Given the description of an element on the screen output the (x, y) to click on. 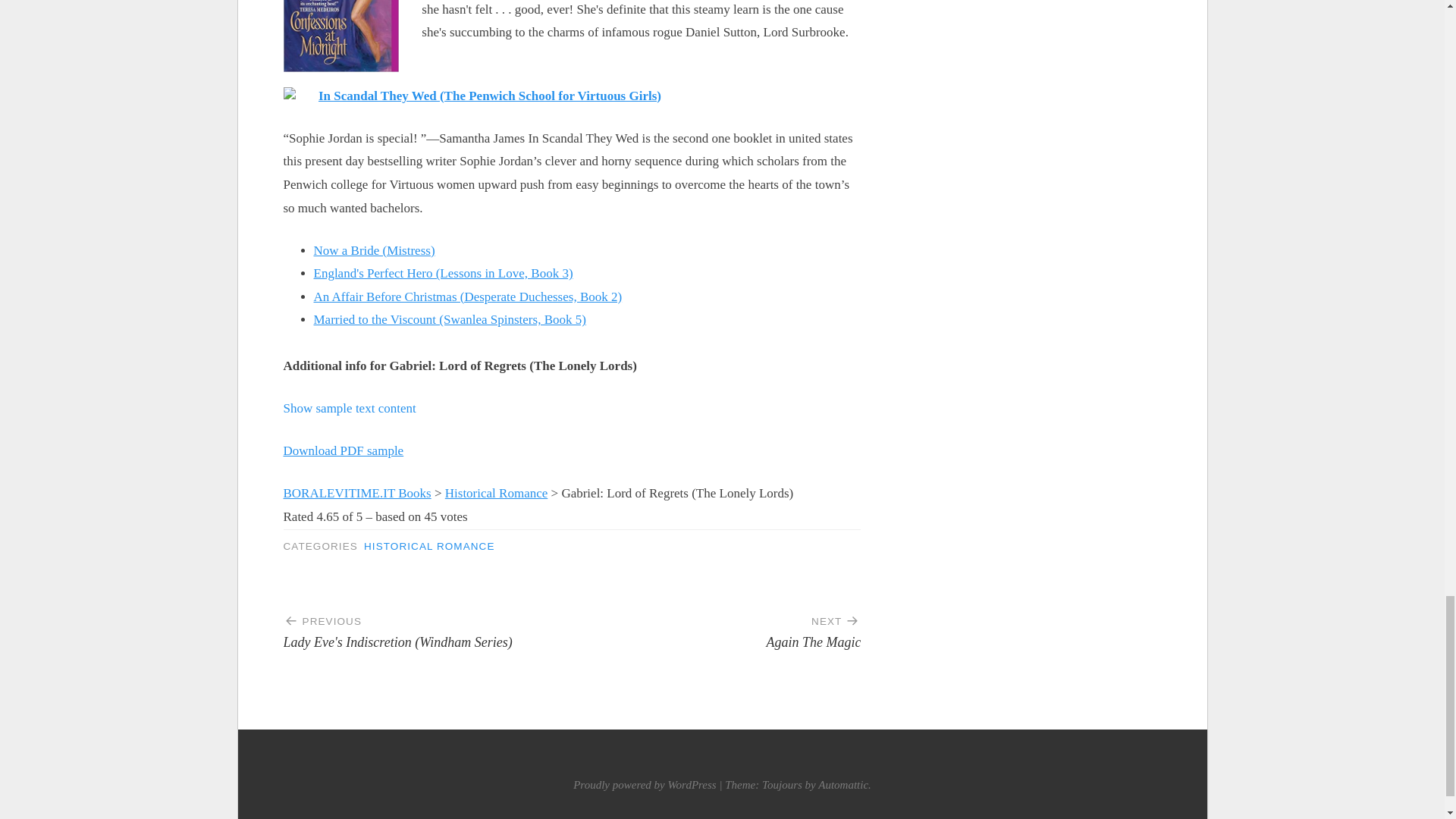
BORALEVITIME.IT Books (356, 493)
Click to show sample text from this book (349, 408)
Go to the Historical Romance category archives. (496, 493)
Show sample text content (349, 408)
Historical Romance (496, 493)
Go to BORALEVITIME.IT Books. (356, 493)
HISTORICAL ROMANCE (429, 546)
Download PDF sample (716, 625)
